Given the description of an element on the screen output the (x, y) to click on. 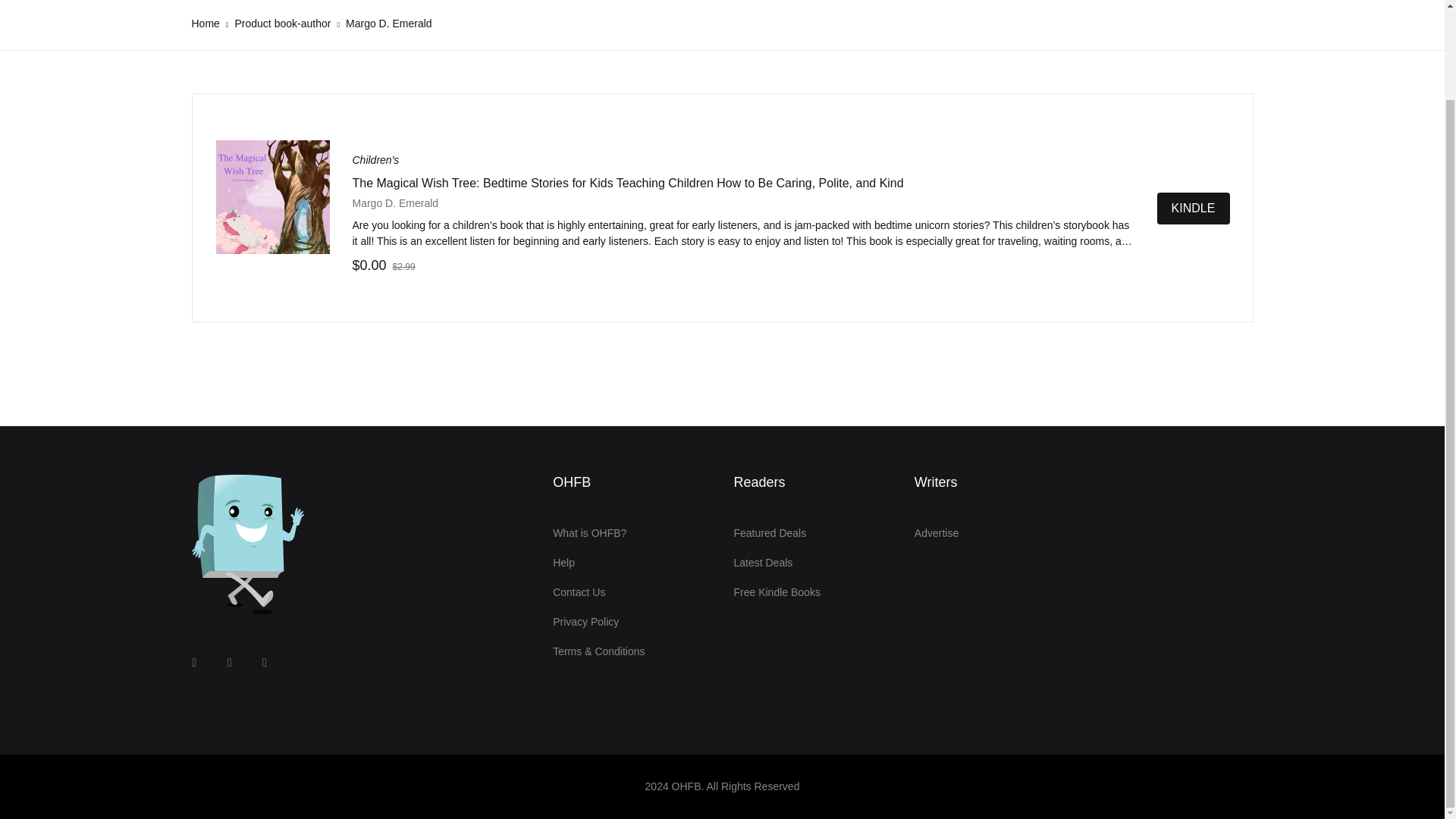
Margo D. Emerald (395, 203)
What is OHFB? (589, 532)
Home (204, 23)
Advertise (936, 532)
Contact Us (579, 592)
Featured Deals (769, 532)
KINDLE (1193, 207)
Privacy Policy (585, 622)
Latest Deals (762, 562)
Free Kindle Books (776, 592)
